Given the description of an element on the screen output the (x, y) to click on. 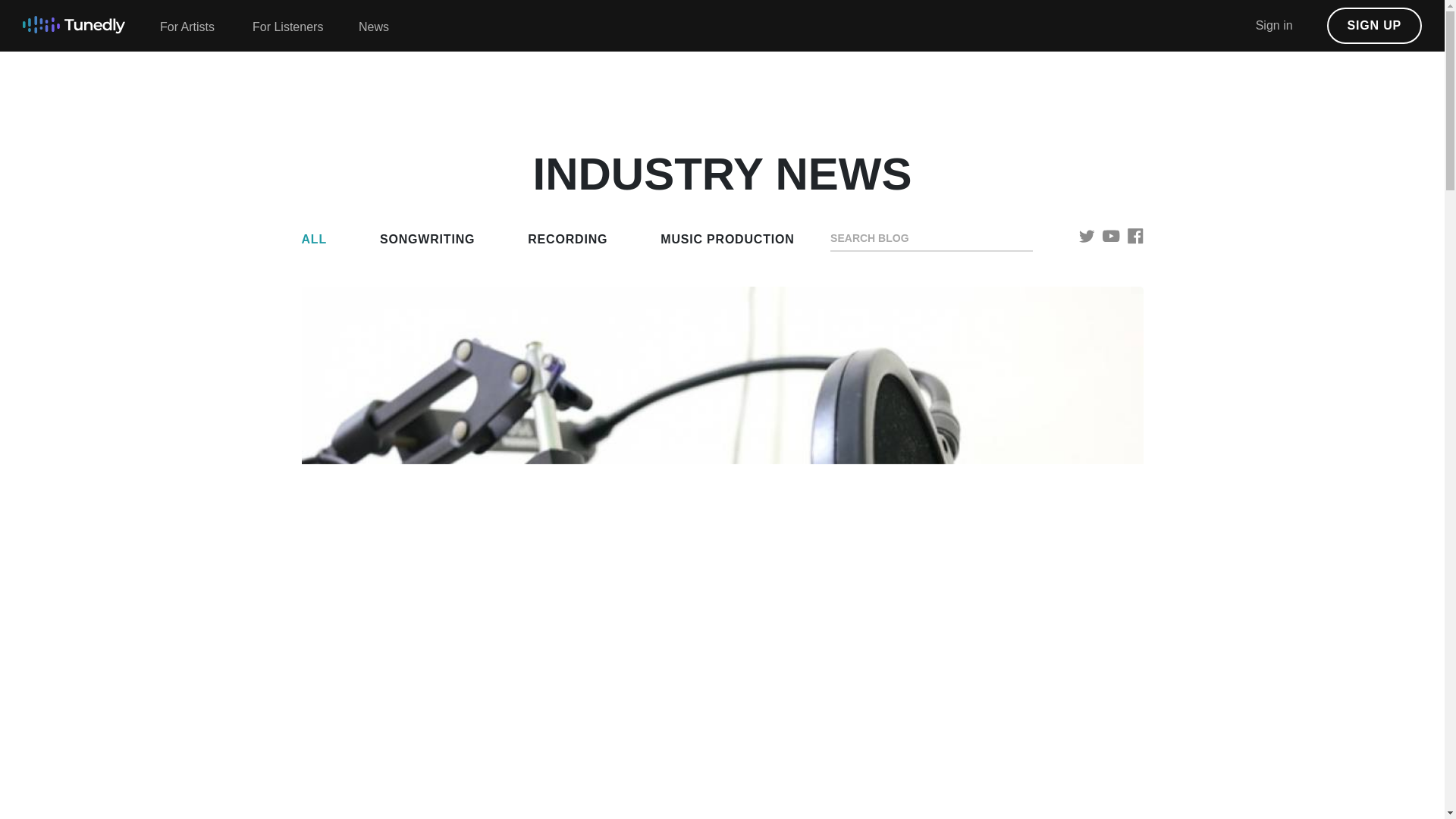
SONGWRITING (427, 239)
RECORDING (567, 239)
For Artists (186, 27)
submit (1026, 237)
ALL (314, 239)
submit (1026, 237)
News (374, 27)
SIGN UP (1374, 25)
For Listeners (287, 27)
MUSIC PRODUCTION (727, 239)
